Given the description of an element on the screen output the (x, y) to click on. 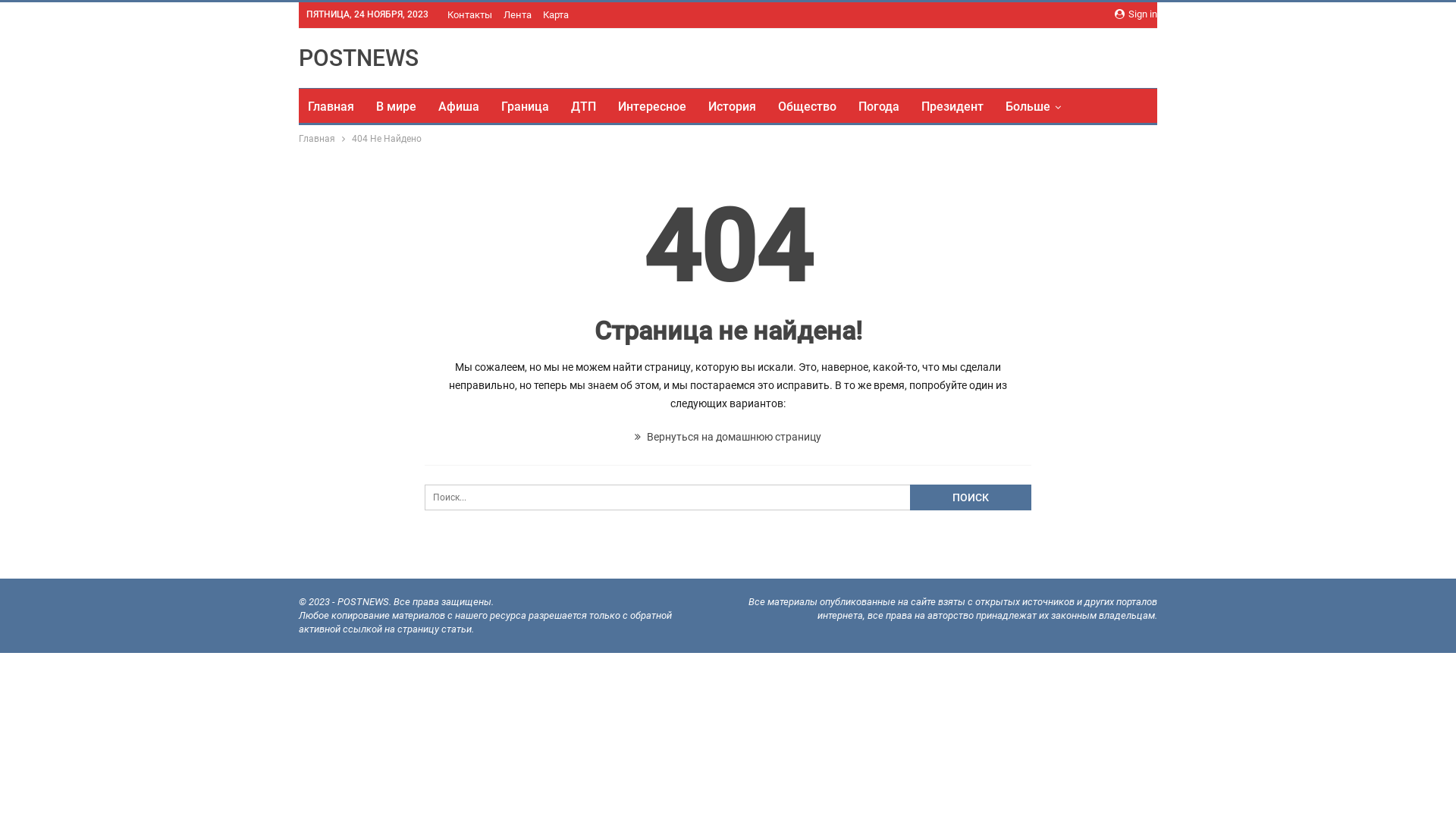
Sign in Element type: text (1135, 14)
POSTNEWS Element type: text (358, 57)
